Given the description of an element on the screen output the (x, y) to click on. 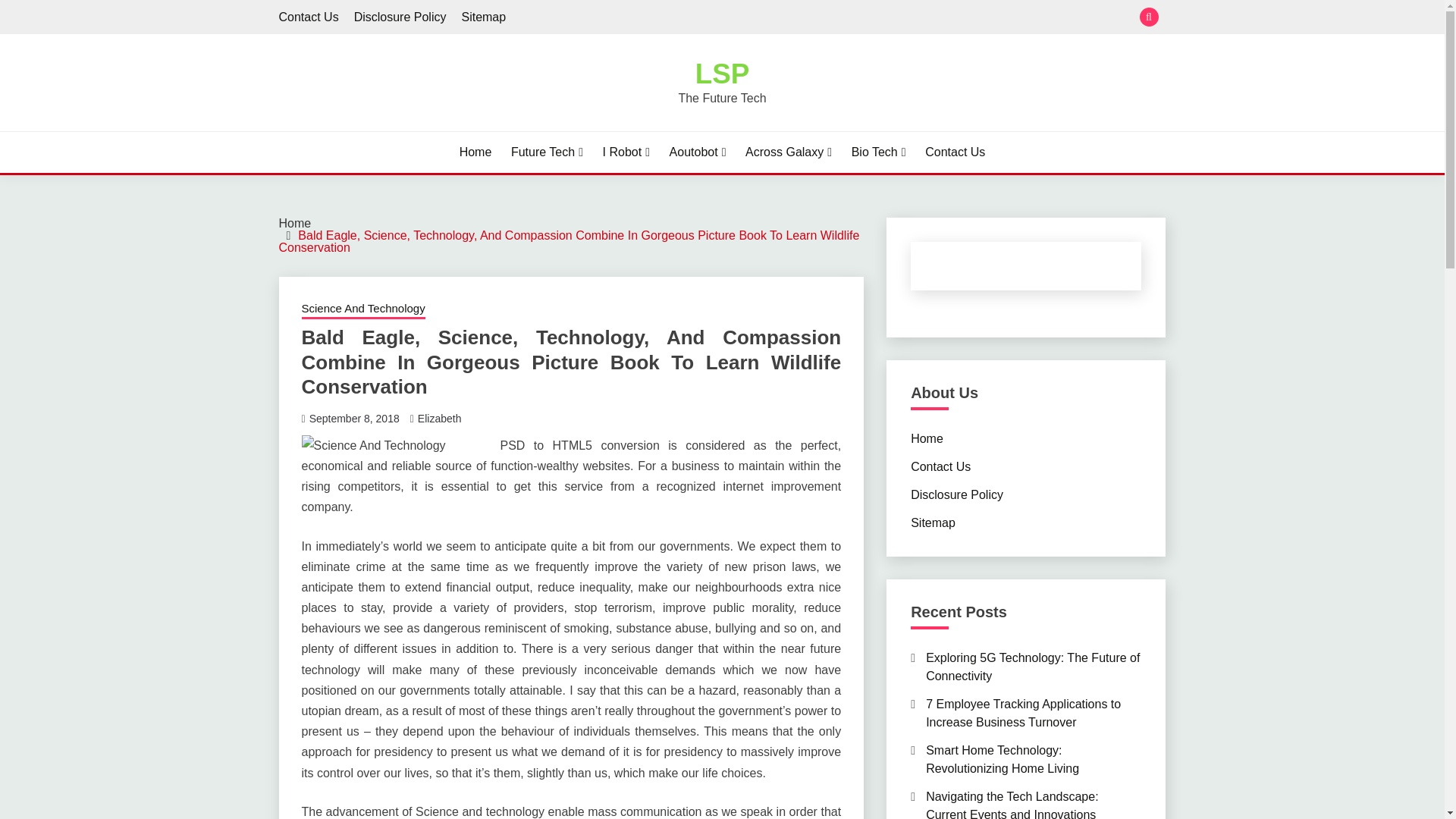
LSP (722, 73)
Contact Us (309, 16)
Aoutobot (697, 152)
Across Galaxy (788, 152)
Sitemap (483, 16)
Future Tech (547, 152)
Contact Us (954, 152)
Home (295, 223)
Home (476, 152)
Disclosure Policy (399, 16)
Search (832, 18)
Bio Tech (878, 152)
I Robot (625, 152)
